Given the description of an element on the screen output the (x, y) to click on. 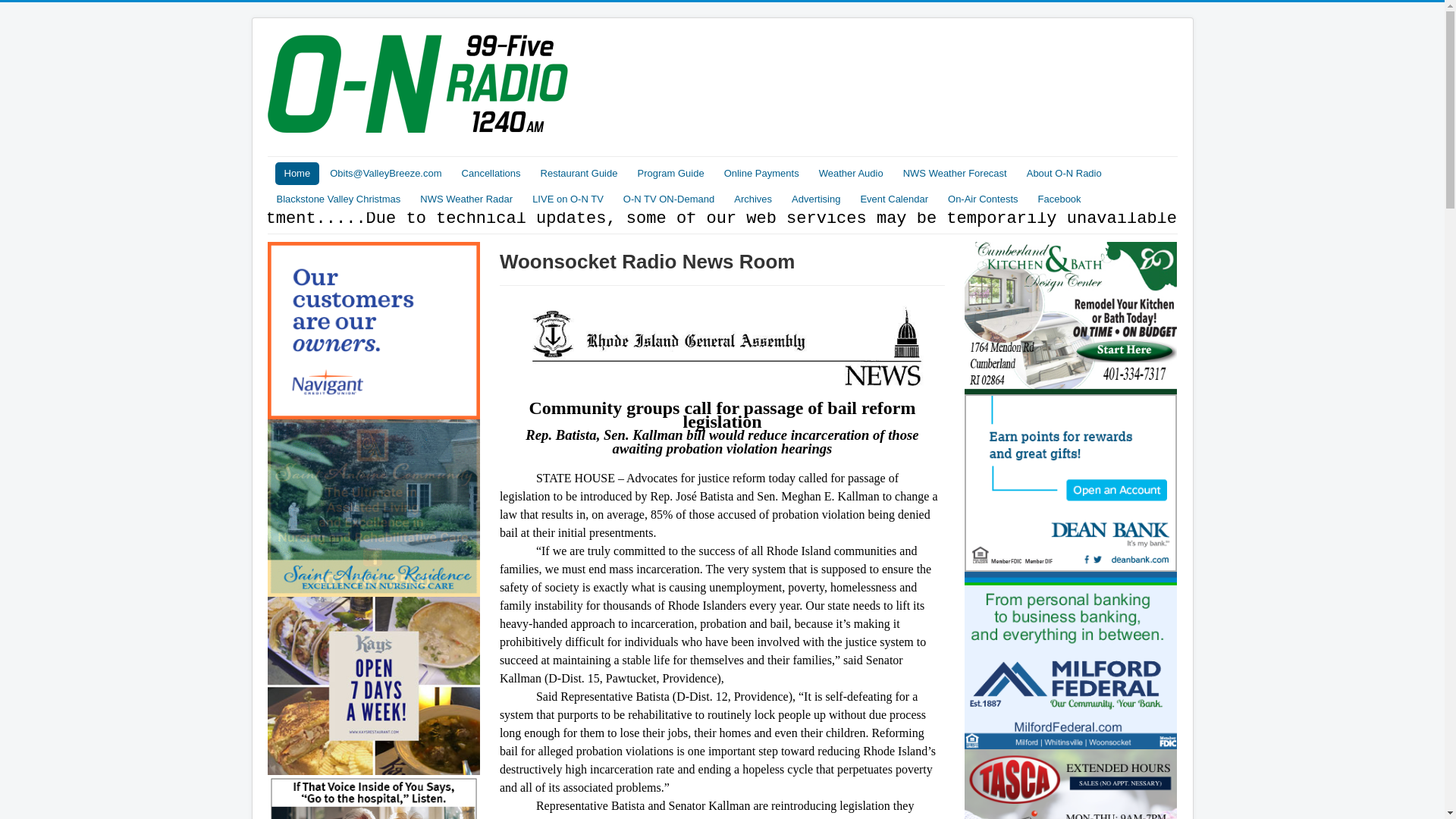
Program Guide (670, 173)
Event Calendar (893, 199)
Weather Audio (850, 173)
Milford Federal (1070, 665)
Blackstone Valley Christmas (337, 199)
On-Air Contests (982, 199)
Imperial Cars (373, 524)
Navigant Credit Union (373, 719)
Saint Antoine (373, 328)
Facebook (1058, 199)
